Given the description of an element on the screen output the (x, y) to click on. 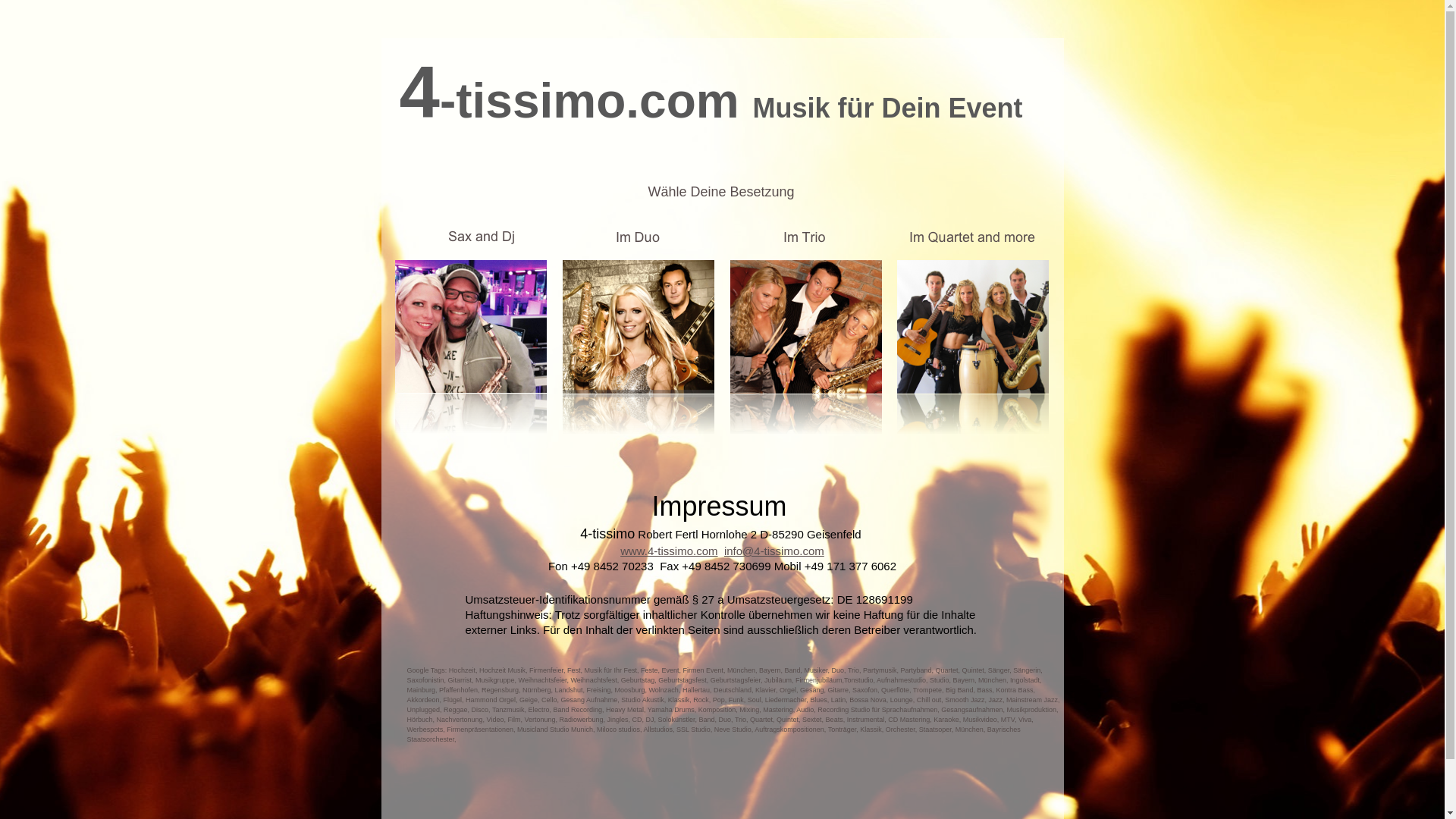
www.4-tissimo.com Element type: text (668, 550)
info@4-tissimo.com Element type: text (774, 550)
